Given the description of an element on the screen output the (x, y) to click on. 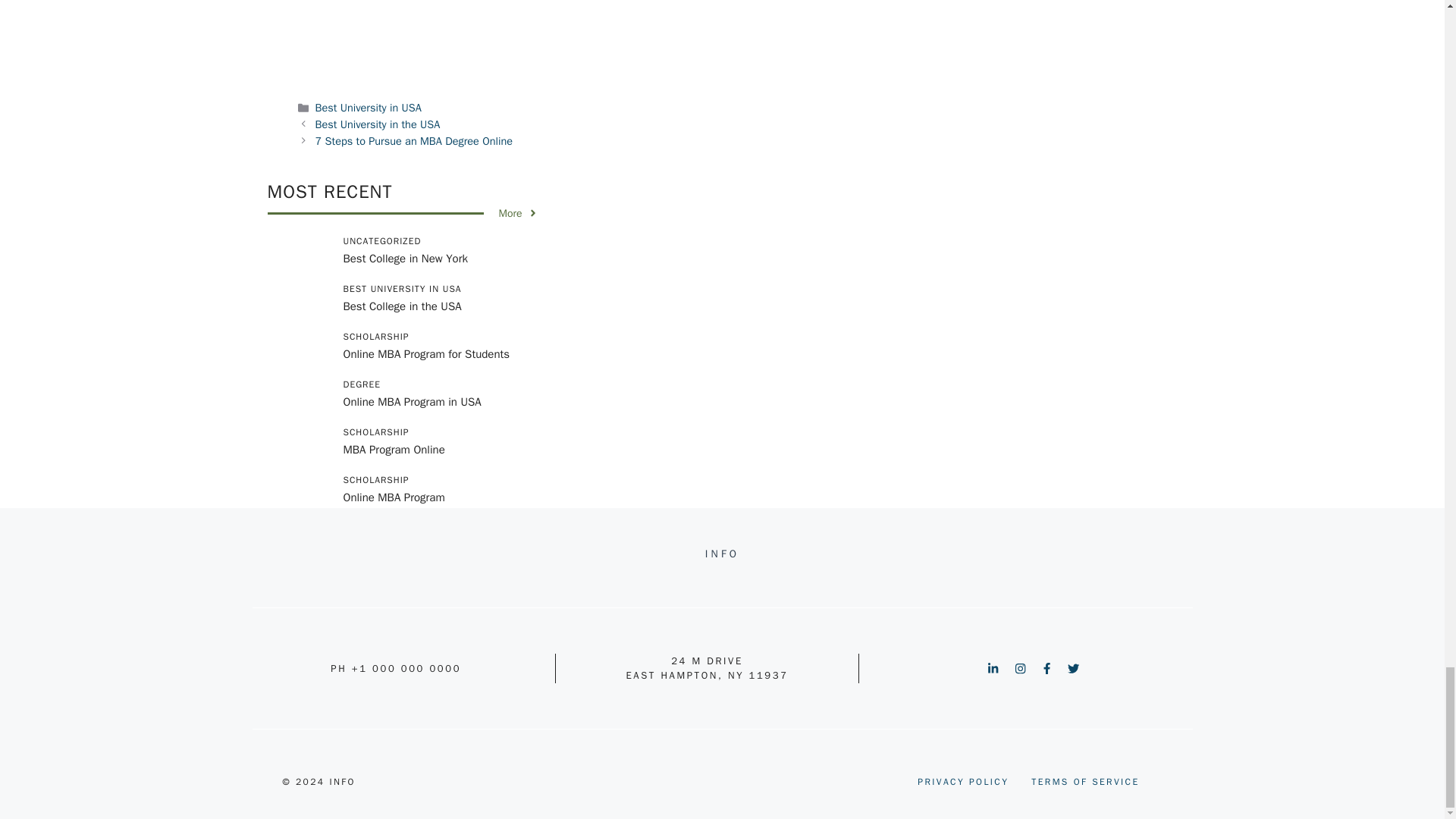
Best University in the USA (378, 124)
Best University in USA (368, 107)
7 Steps to Pursue an MBA Degree Online (413, 141)
PRIVACY POLICY (963, 781)
Best College in the USA (401, 305)
MBA Program Online (393, 449)
Online MBA Program in USA (411, 401)
Online MBA Program (393, 497)
Best College in New York (404, 258)
Online MBA Program for Students (425, 354)
TERMS OF SERVICE (1084, 781)
More (518, 213)
